Given the description of an element on the screen output the (x, y) to click on. 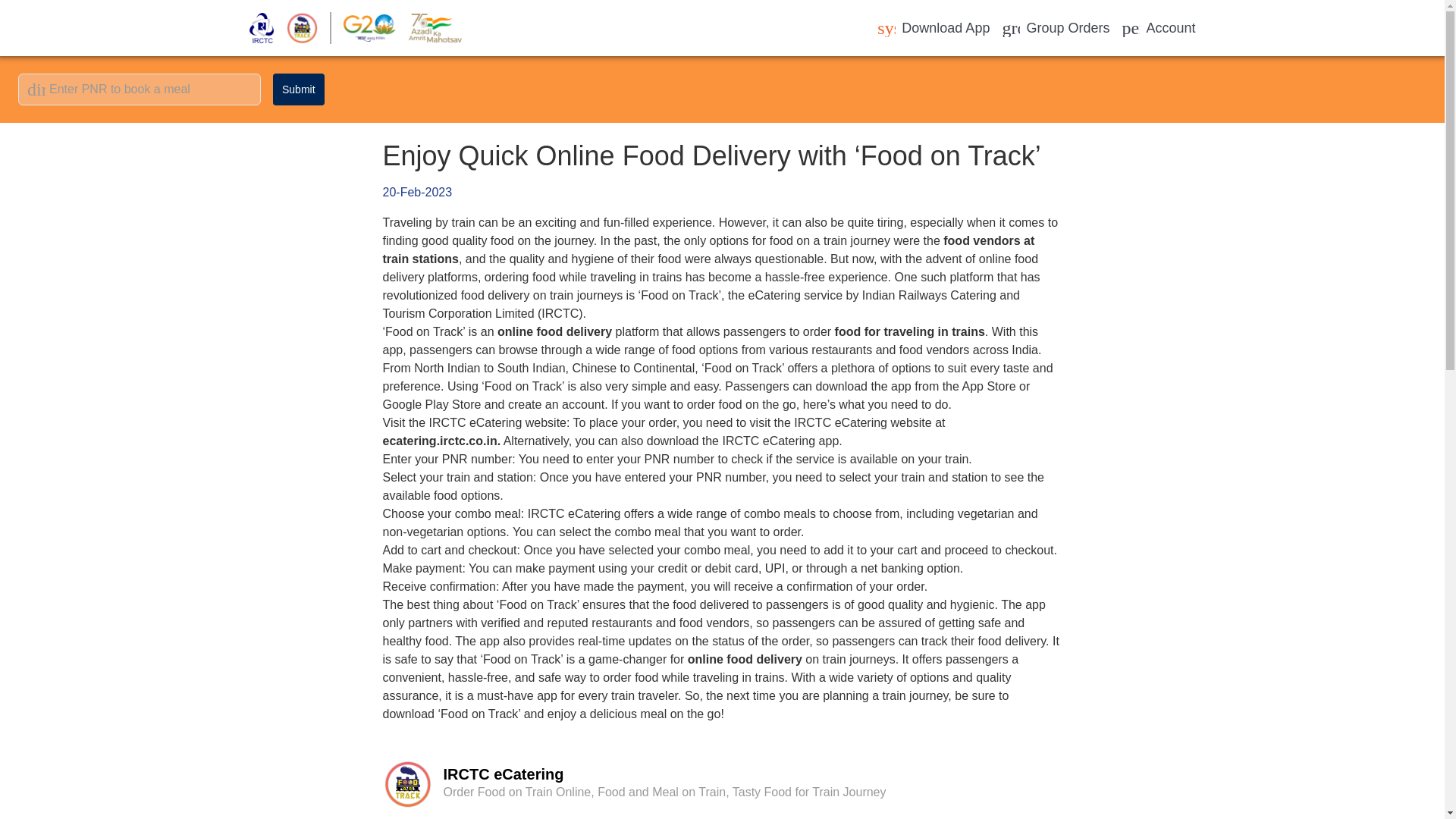
food vendors at train stations (707, 249)
online food delivery (744, 658)
Submit (298, 89)
IRCTC eCatering (1055, 27)
